Given the description of an element on the screen output the (x, y) to click on. 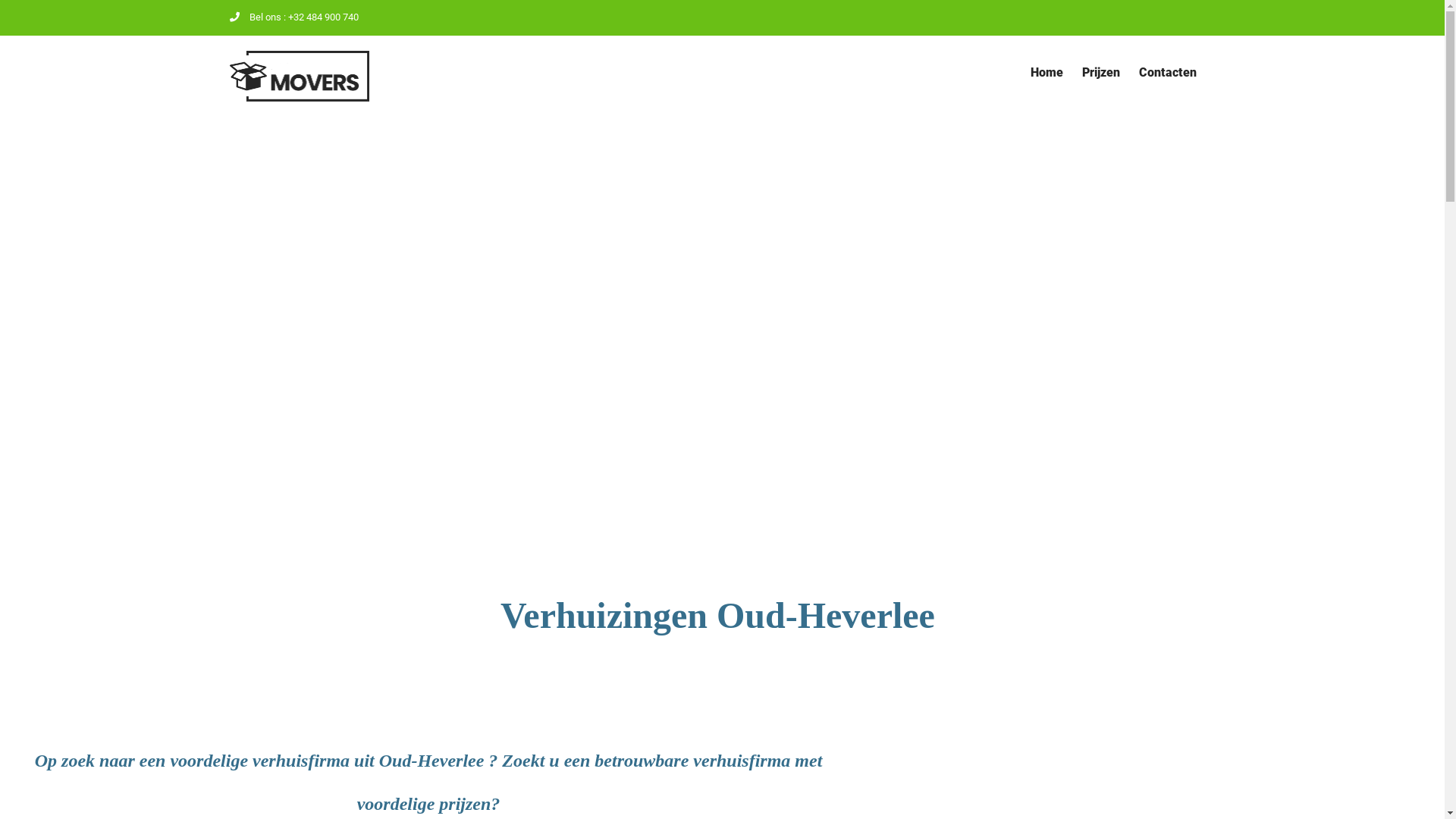
Prijzen Element type: text (1100, 72)
Home Element type: text (1045, 72)
Bel ons : +32 484 900 740 Element type: text (293, 16)
Contacten Element type: text (1167, 72)
